Given the description of an element on the screen output the (x, y) to click on. 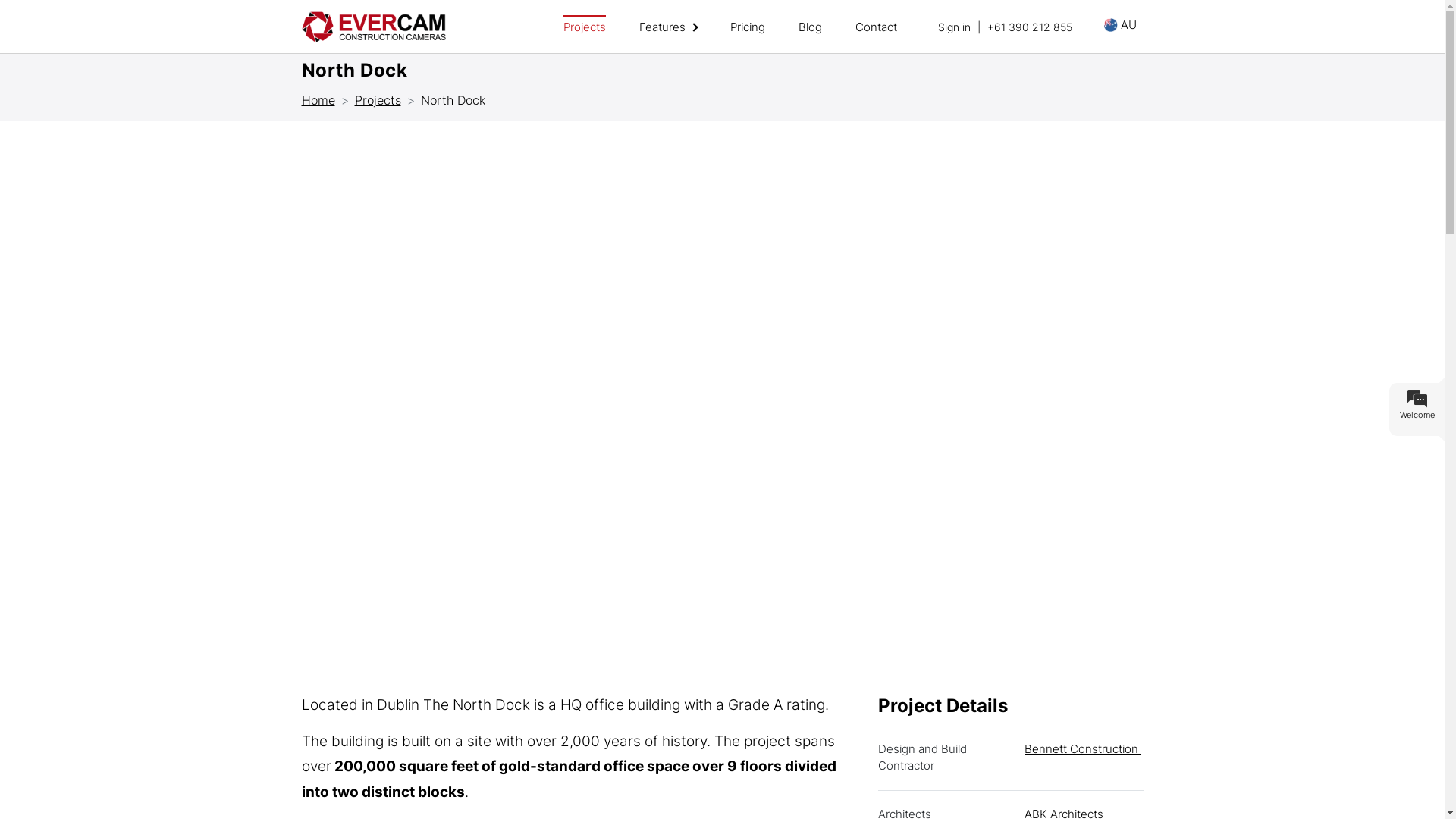
Features Element type: text (667, 18)
Contact Element type: text (876, 18)
AU Element type: text (1120, 24)
Blog Element type: text (809, 18)
Sign in Element type: text (953, 26)
Bennett Construction  Element type: text (1082, 748)
Home Element type: text (318, 99)
Projects Element type: text (583, 18)
+61 390 212 855 Element type: text (1029, 26)
Pricing Element type: text (746, 18)
Projects Element type: text (377, 99)
